Given the description of an element on the screen output the (x, y) to click on. 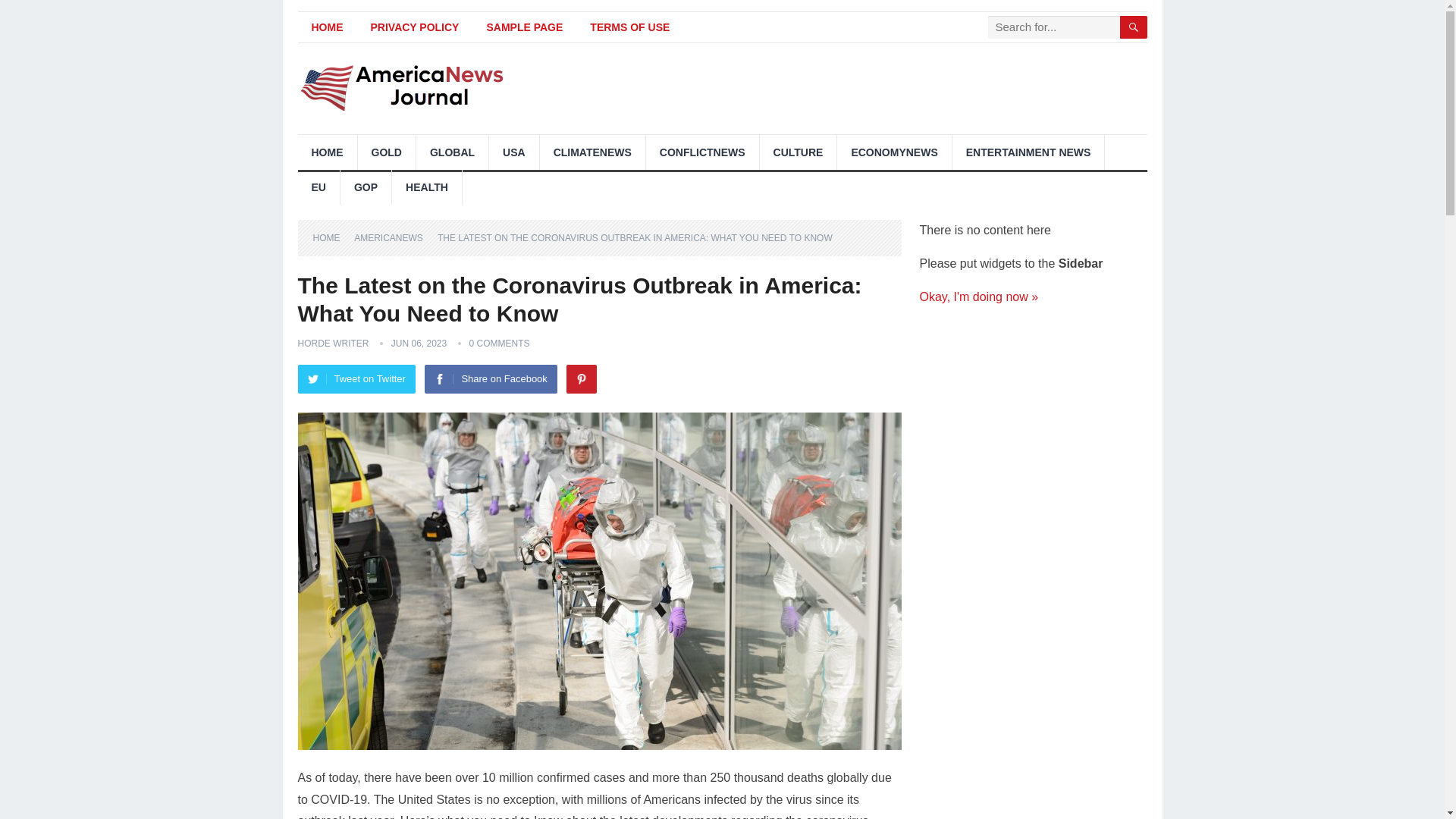
AMERICANEWS (393, 237)
HORDE WRITER (332, 343)
GOLD (386, 152)
CONFLICTNEWS (702, 152)
ECONOMYNEWS (893, 152)
Posts by horde writer (332, 343)
HOME (326, 27)
HOME (331, 237)
HEALTH (426, 186)
View all posts in AmericaNews (393, 237)
